Given the description of an element on the screen output the (x, y) to click on. 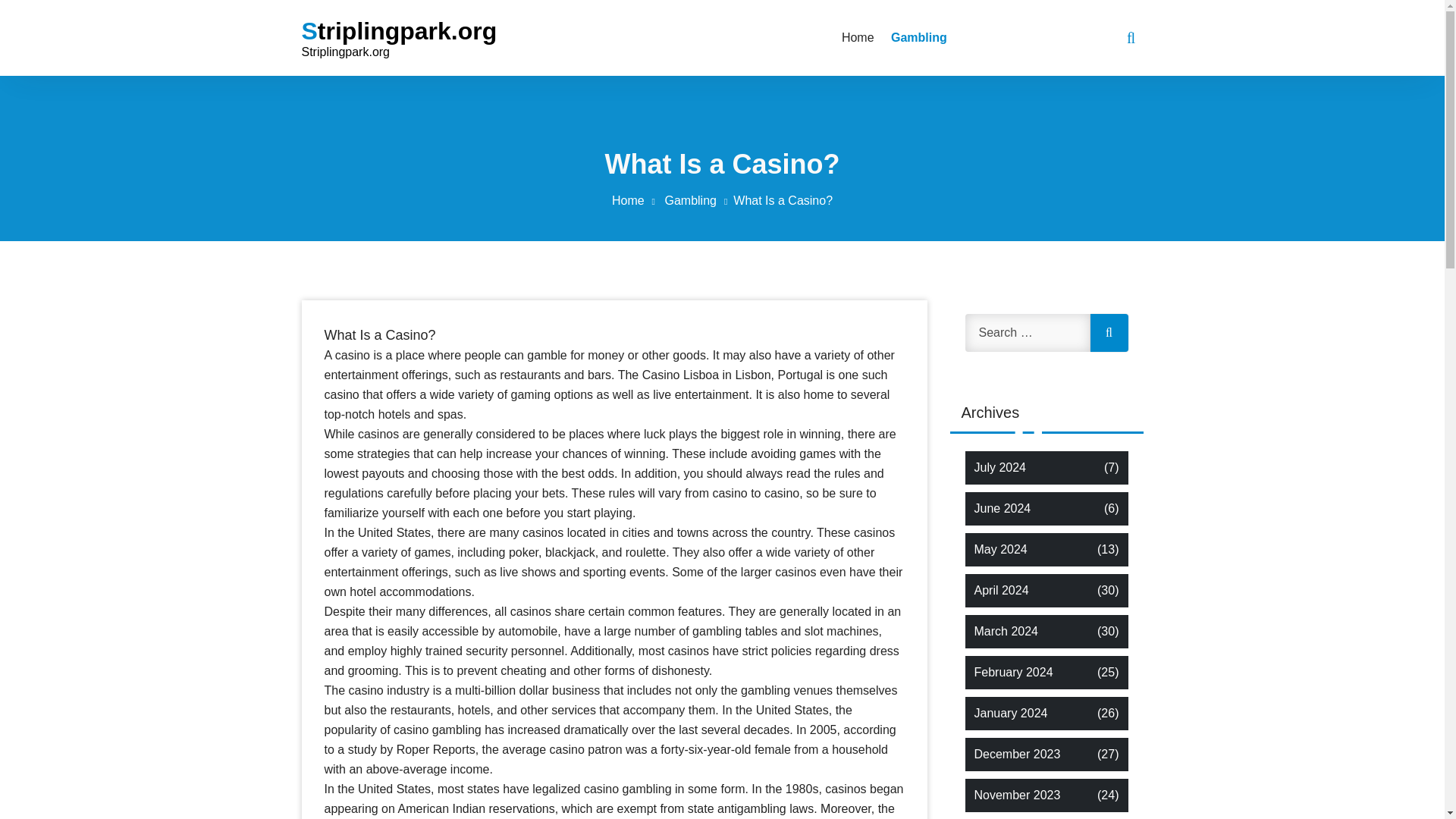
February 2024 (1013, 672)
Gambling (698, 200)
July 2024 (1000, 467)
Gambling (916, 37)
Home (636, 200)
March 2024 (1006, 631)
December 2023 (1016, 754)
Home (857, 37)
June 2024 (1002, 508)
January 2024 (1010, 713)
May 2024 (1000, 549)
April 2024 (1000, 590)
November 2023 (1016, 795)
Home (857, 37)
Gambling (916, 37)
